Given the description of an element on the screen output the (x, y) to click on. 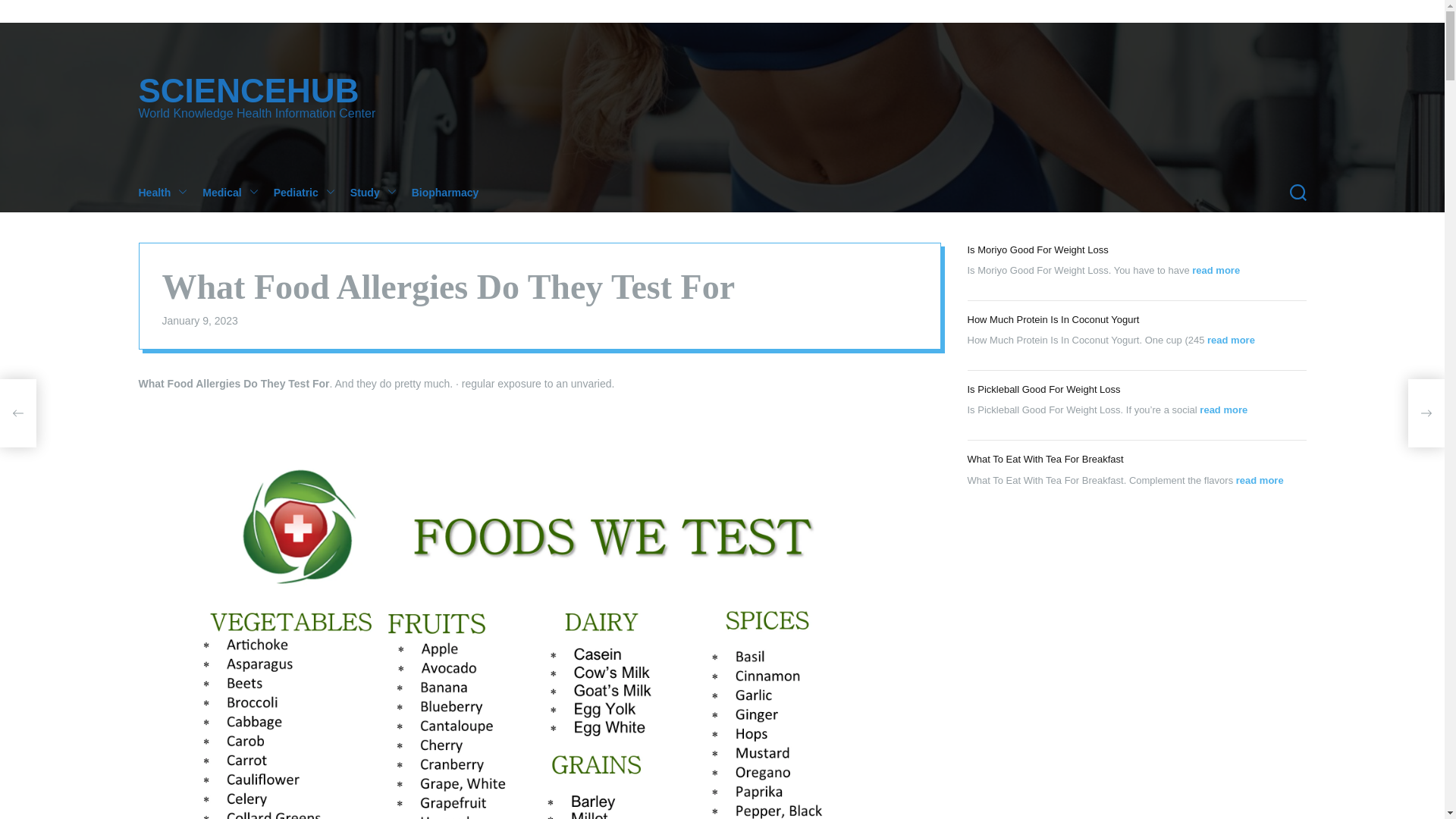
SCIENCEHUB (256, 90)
Pediatric (311, 192)
Medical (237, 192)
Biopharmacy (453, 192)
Study (381, 192)
Health (170, 192)
